Given the description of an element on the screen output the (x, y) to click on. 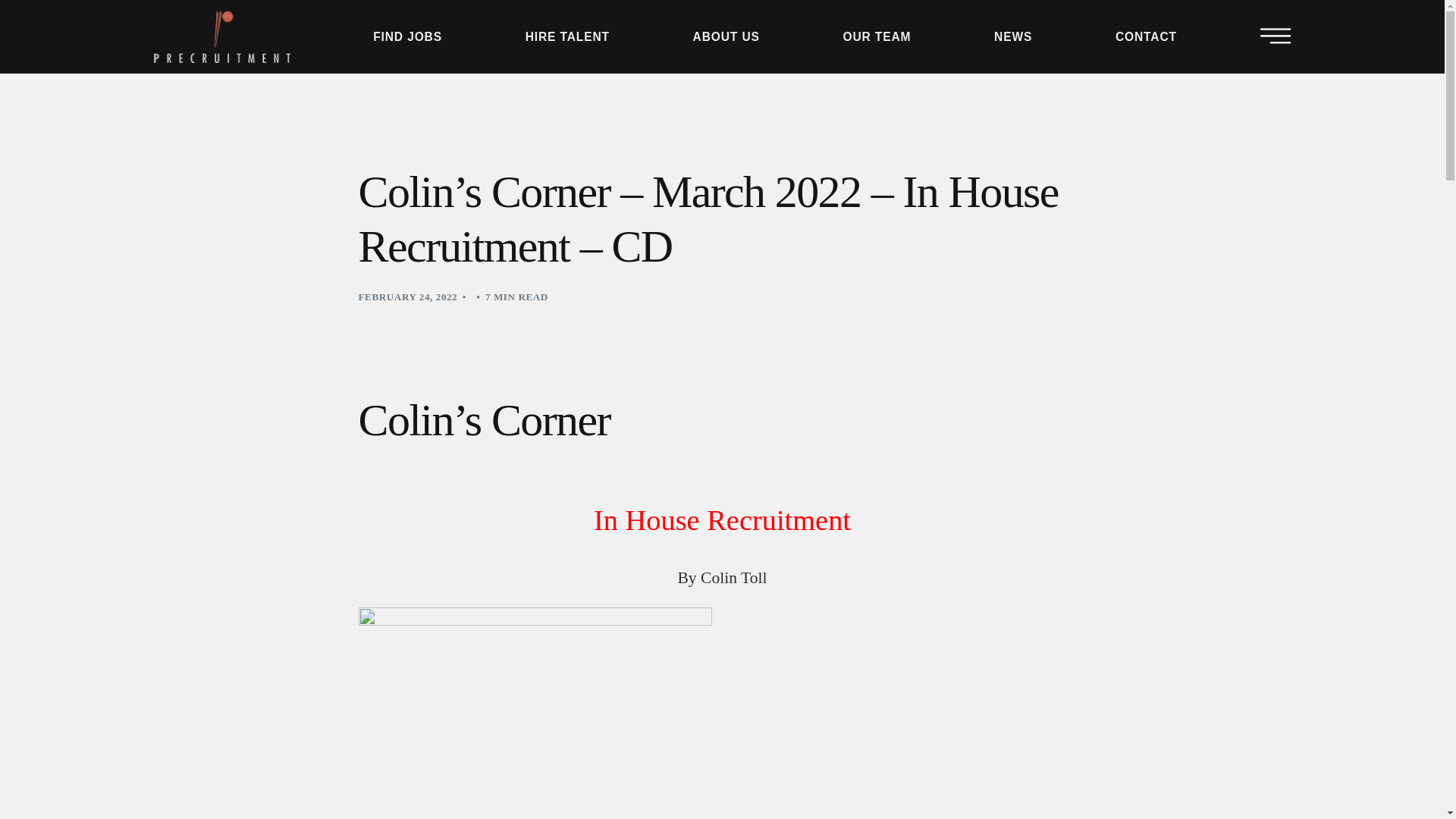
HIRE TALENT (473, 30)
ABOUT US (603, 30)
NEWS (844, 30)
CONTACT (954, 30)
OUR TEAM (729, 30)
FIND JOBS (339, 30)
